Given the description of an element on the screen output the (x, y) to click on. 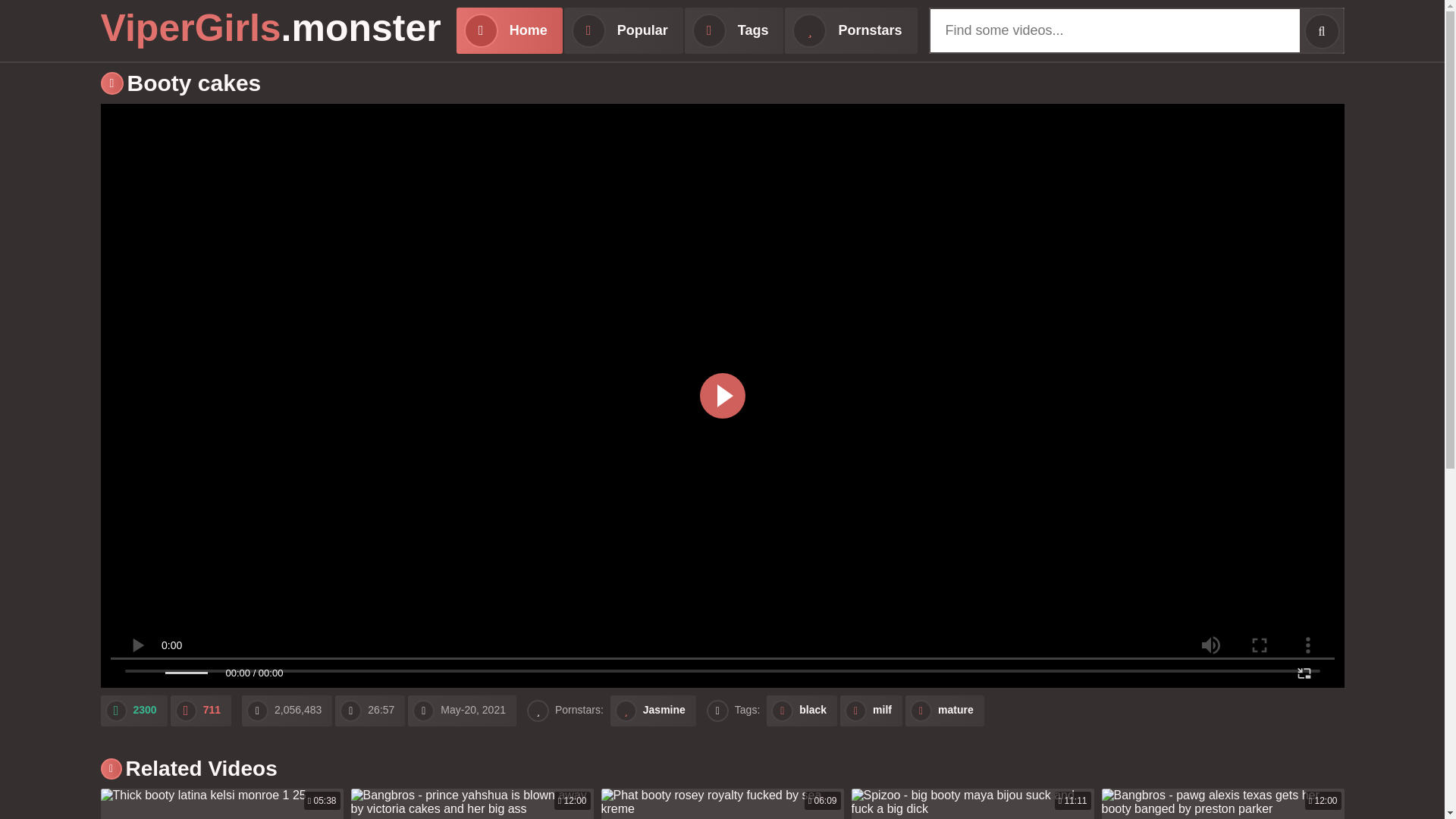
711 (721, 803)
2300 (200, 710)
Find (133, 710)
Popular (1321, 30)
dslk! (623, 30)
Home (200, 710)
mature (509, 30)
Jasmine (971, 803)
